Given the description of an element on the screen output the (x, y) to click on. 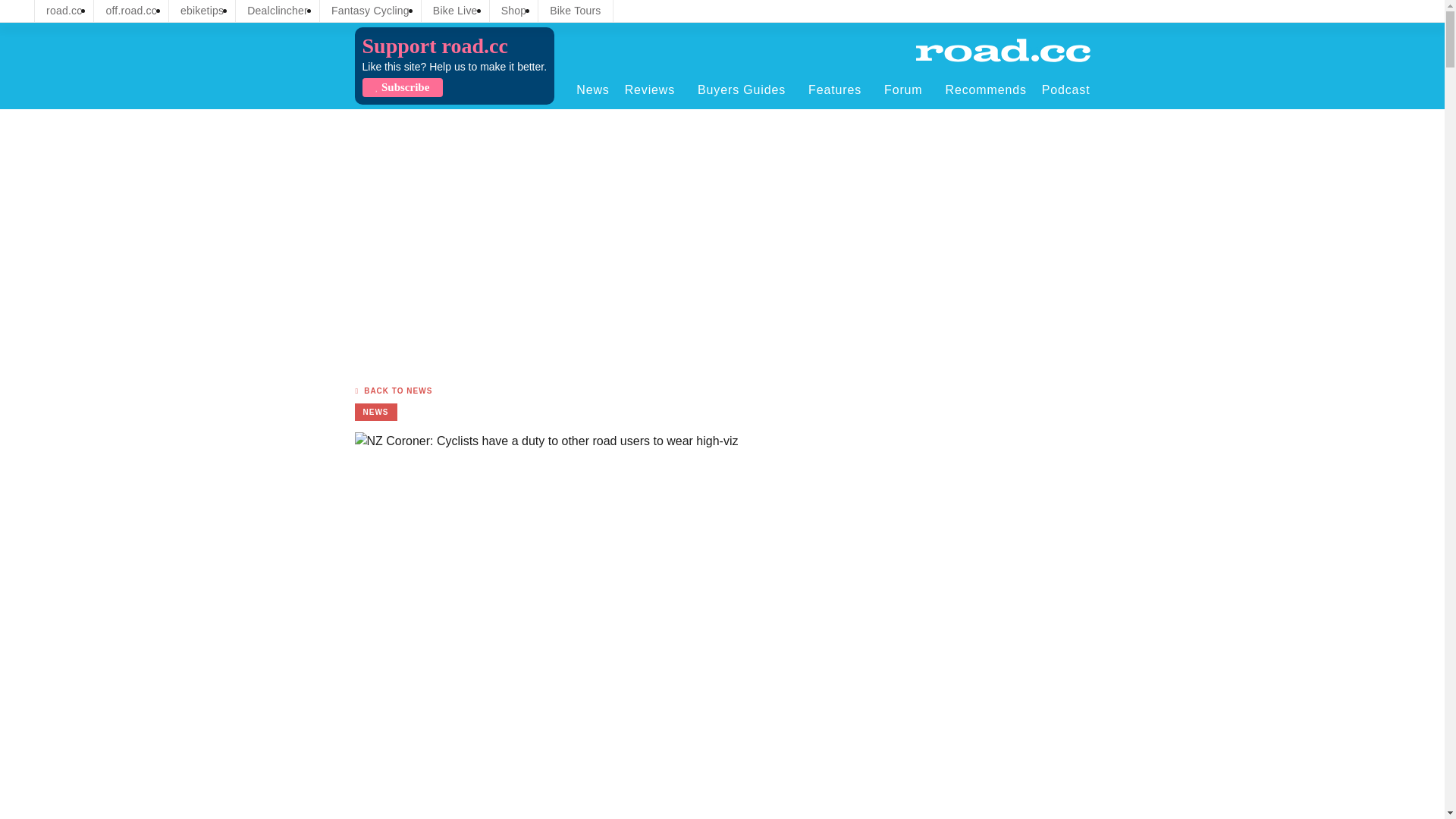
Home (1002, 50)
Bike Tours (574, 11)
ebiketips (201, 11)
Dealclincher (276, 11)
Fantasy Cycling (370, 11)
Subscribe (402, 87)
Bike Live (455, 11)
Reviews (653, 89)
road.cc (63, 11)
off.road.cc (131, 11)
